Given the description of an element on the screen output the (x, y) to click on. 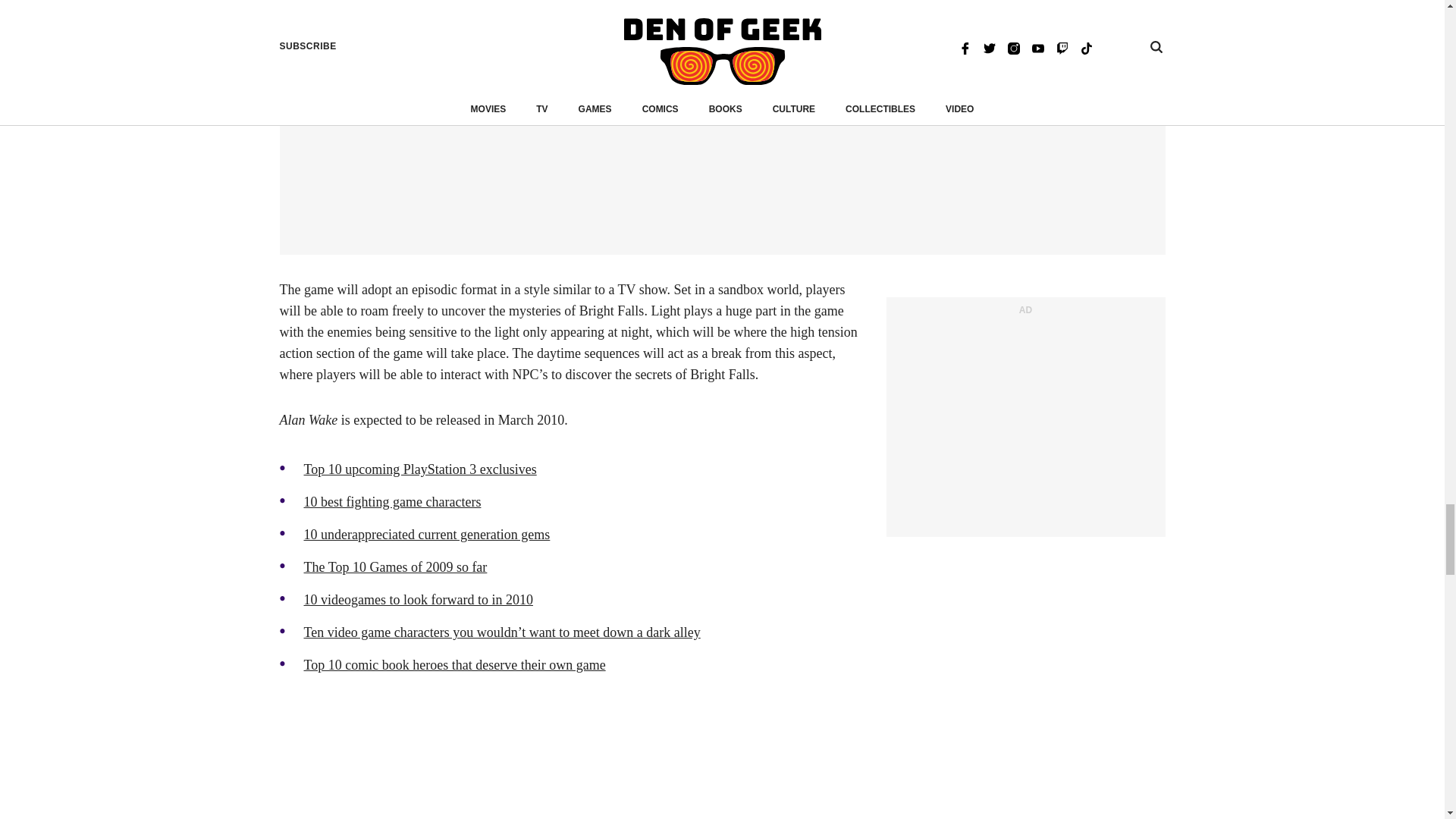
The Top 10 Games of 2009 so far (394, 566)
10 videogames to look forward to in 2010 (417, 599)
Top 10 upcoming PlayStation 3 exclusives (418, 468)
Top 10 comic book heroes that deserve their own game (453, 664)
10 underappreciated current generation gems (426, 534)
10 best fighting game characters (391, 501)
